Given the description of an element on the screen output the (x, y) to click on. 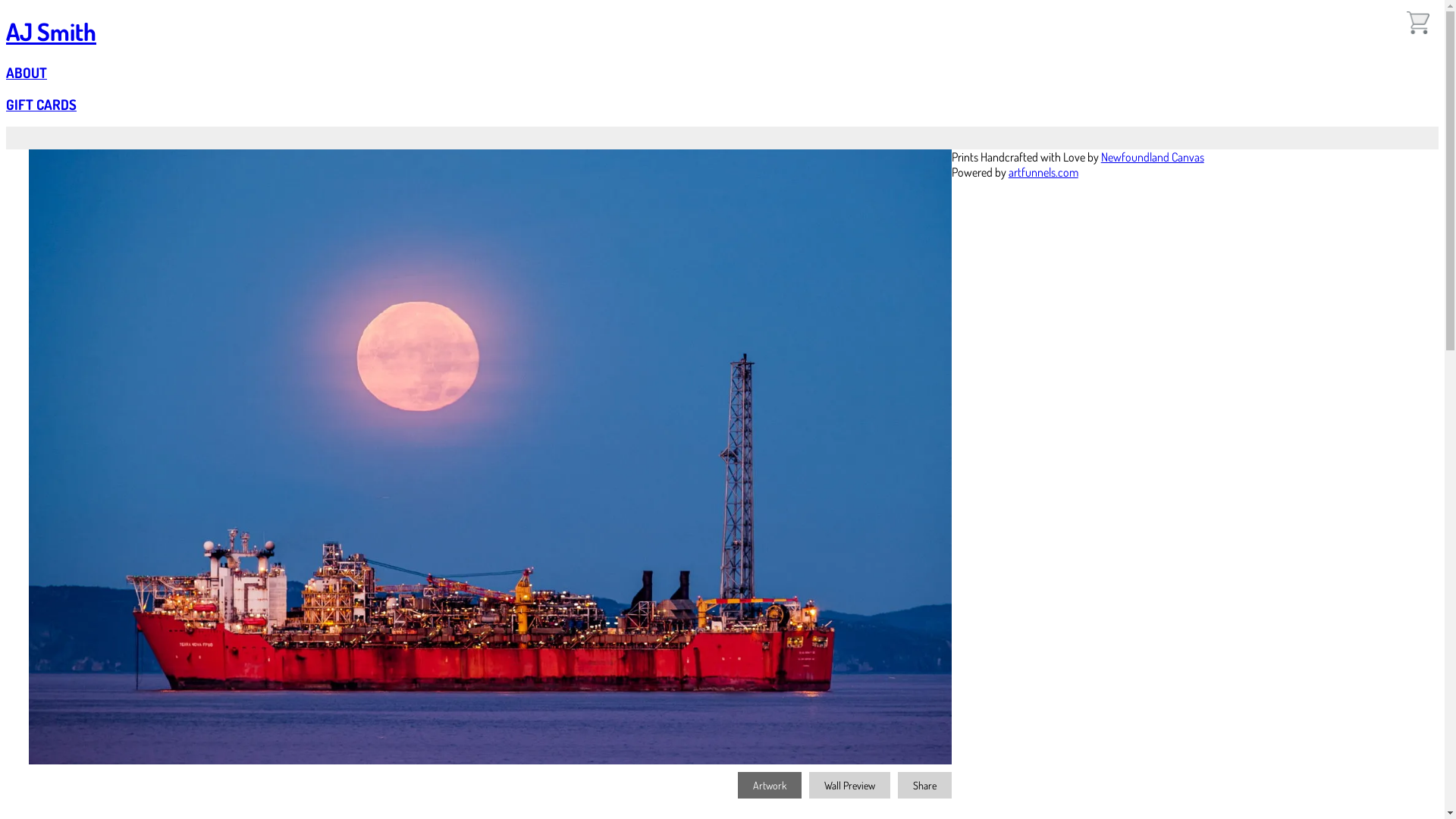
GIFT CARDS Element type: text (41, 103)
Newfoundland Canvas Element type: text (1152, 156)
artfunnels.com Element type: text (1043, 171)
ABOUT Element type: text (26, 72)
AJ Smith Element type: text (51, 31)
